Given the description of an element on the screen output the (x, y) to click on. 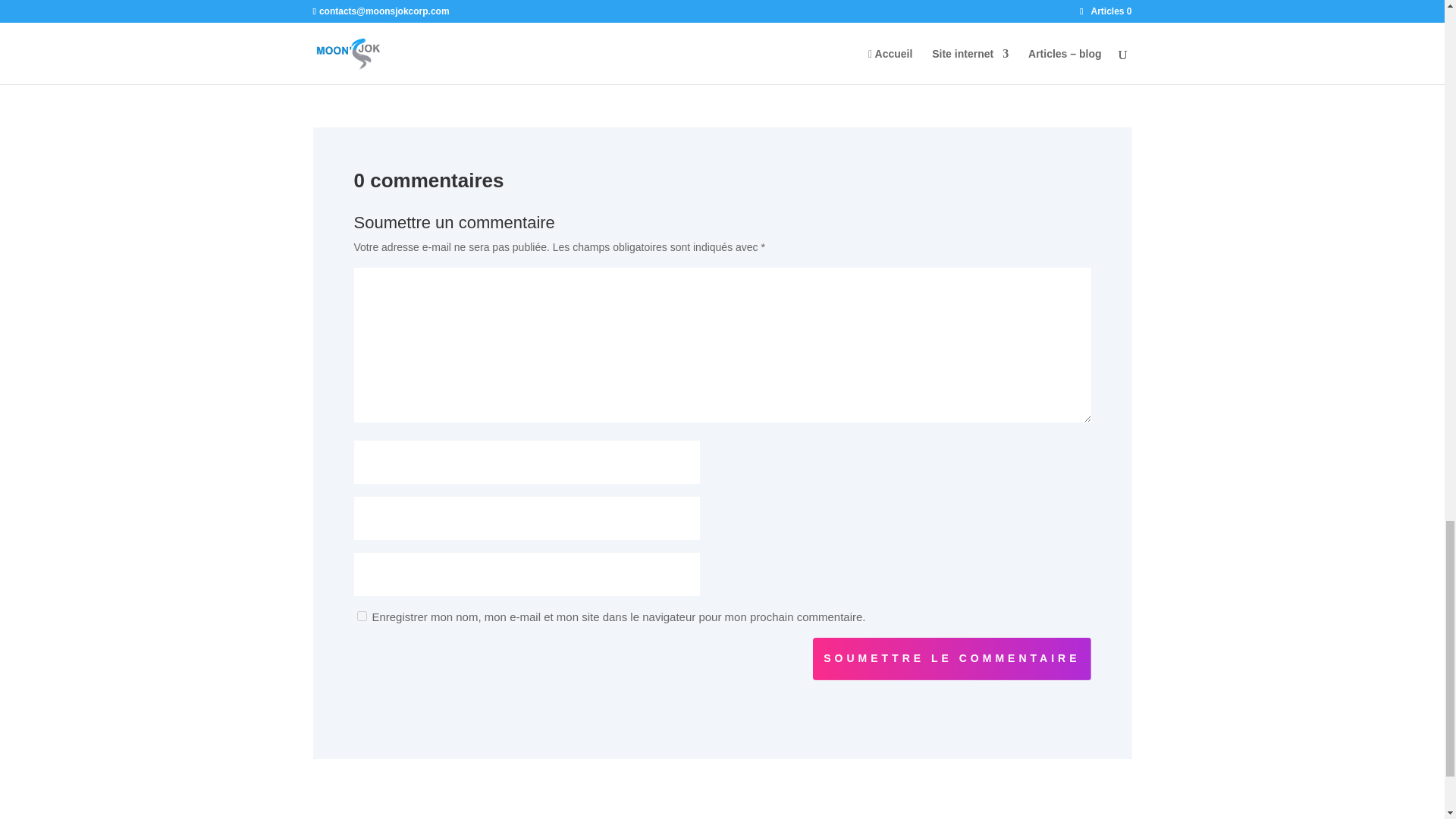
SOUMETTRE LE COMMENTAIRE (951, 659)
yes (361, 615)
